Given the description of an element on the screen output the (x, y) to click on. 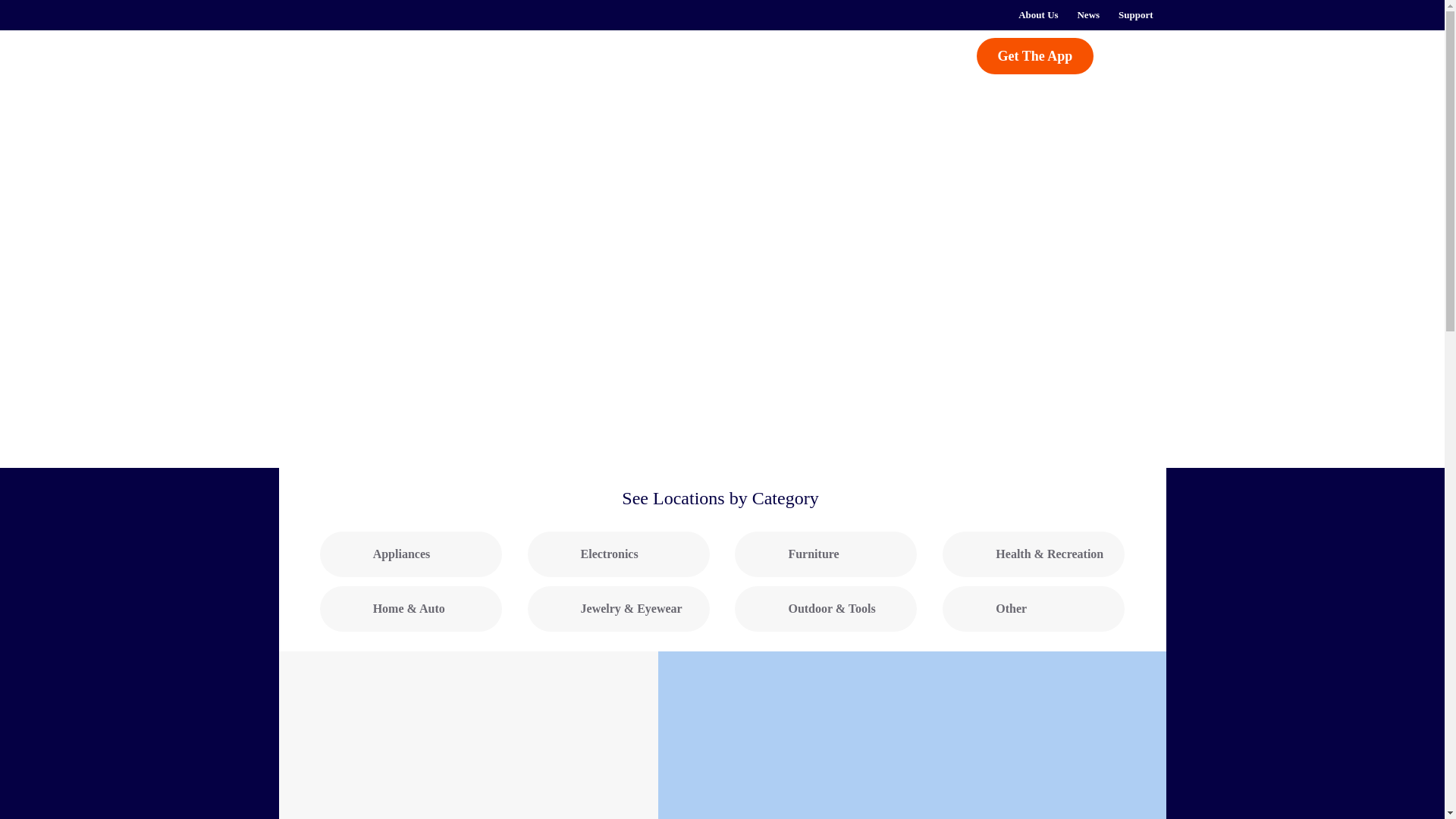
Appliances (411, 554)
Electronics (618, 554)
Acima (358, 63)
How It Works (516, 54)
For Partners (769, 54)
Support (1136, 15)
About Us (1037, 15)
Get The App (1035, 55)
Ways to Shop (653, 54)
Furniture (826, 554)
